Given the description of an element on the screen output the (x, y) to click on. 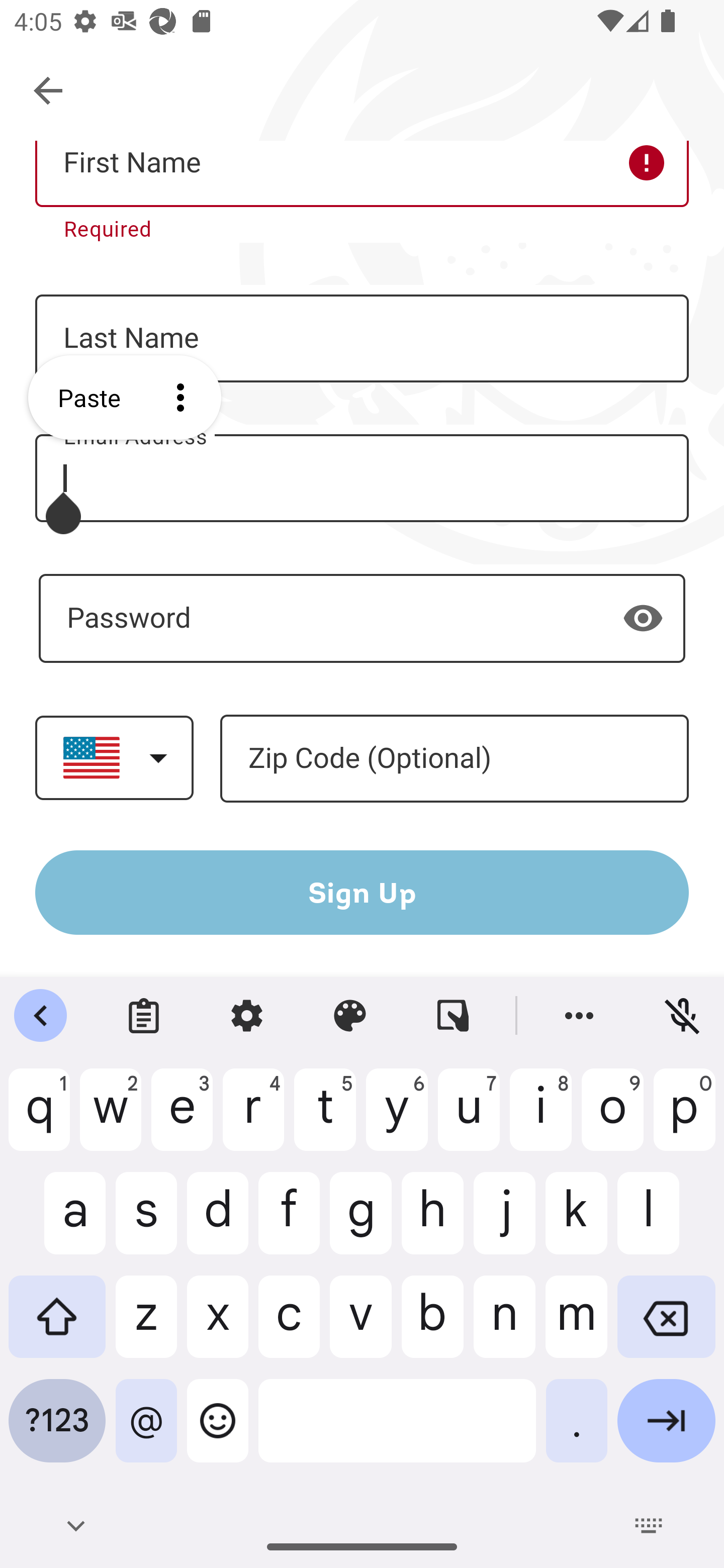
Navigate up (49, 91)
First Name - Required (361, 173)
Last Name - Required (361, 338)
Email Address - Required (361, 478)
- Required (361, 618)
Show password (642, 617)
Zip Code – Optional (454, 758)
Select a country. United States selected. (114, 757)
Sign Up (361, 891)
